Given the description of an element on the screen output the (x, y) to click on. 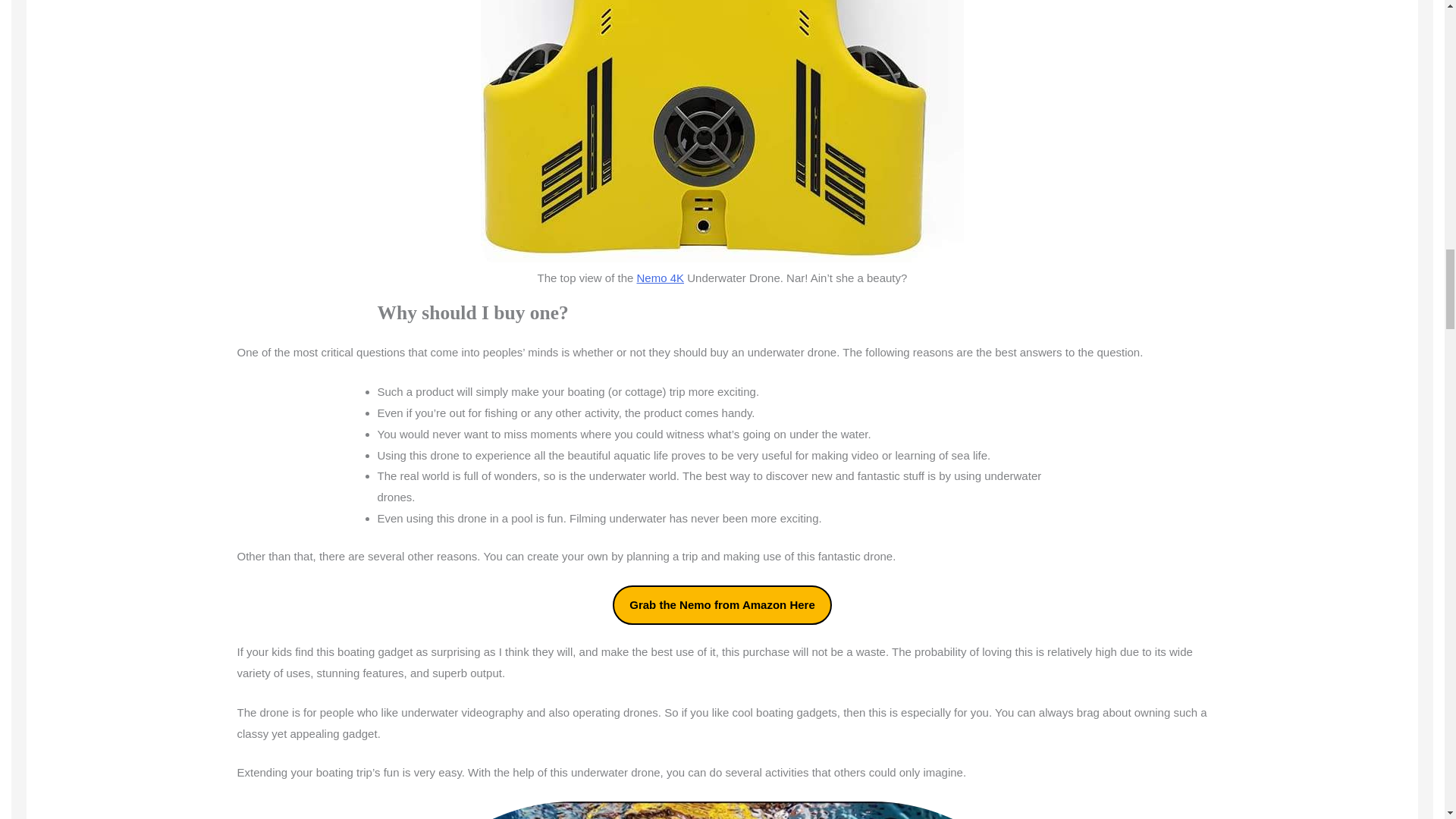
Nemo 4K (660, 277)
Grab the Nemo from Amazon Here (721, 604)
